Given the description of an element on the screen output the (x, y) to click on. 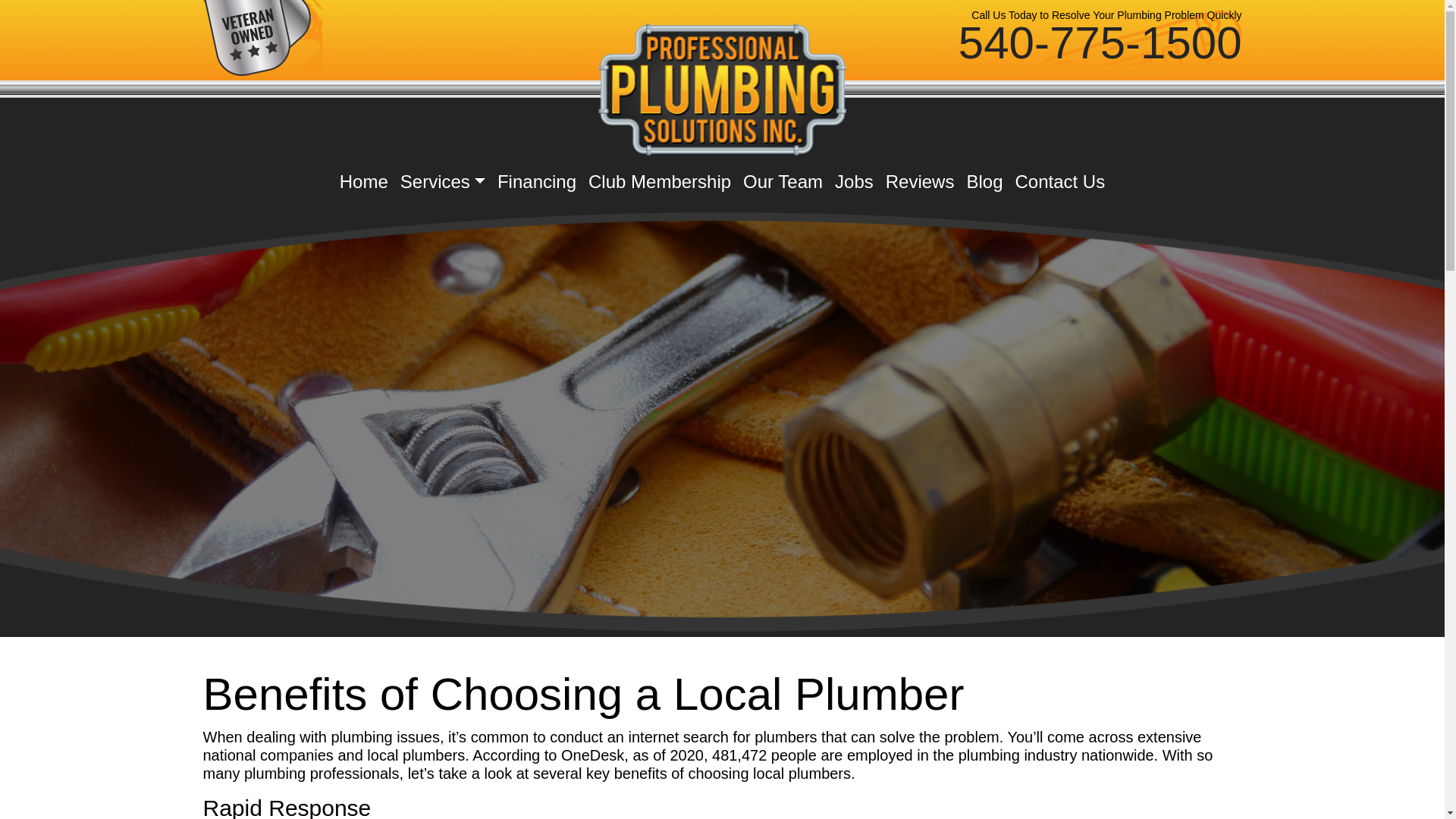
Financing (537, 181)
Club Membership (659, 181)
Blog (984, 181)
Services (443, 181)
Home (363, 181)
Jobs (853, 181)
Contact Us (1059, 181)
Our Team (782, 181)
Reviews (919, 181)
Financing (537, 181)
Our Team (782, 181)
Club Membership (659, 181)
Jobs (853, 181)
540-775-1500 (1099, 42)
Home (363, 181)
